Given the description of an element on the screen output the (x, y) to click on. 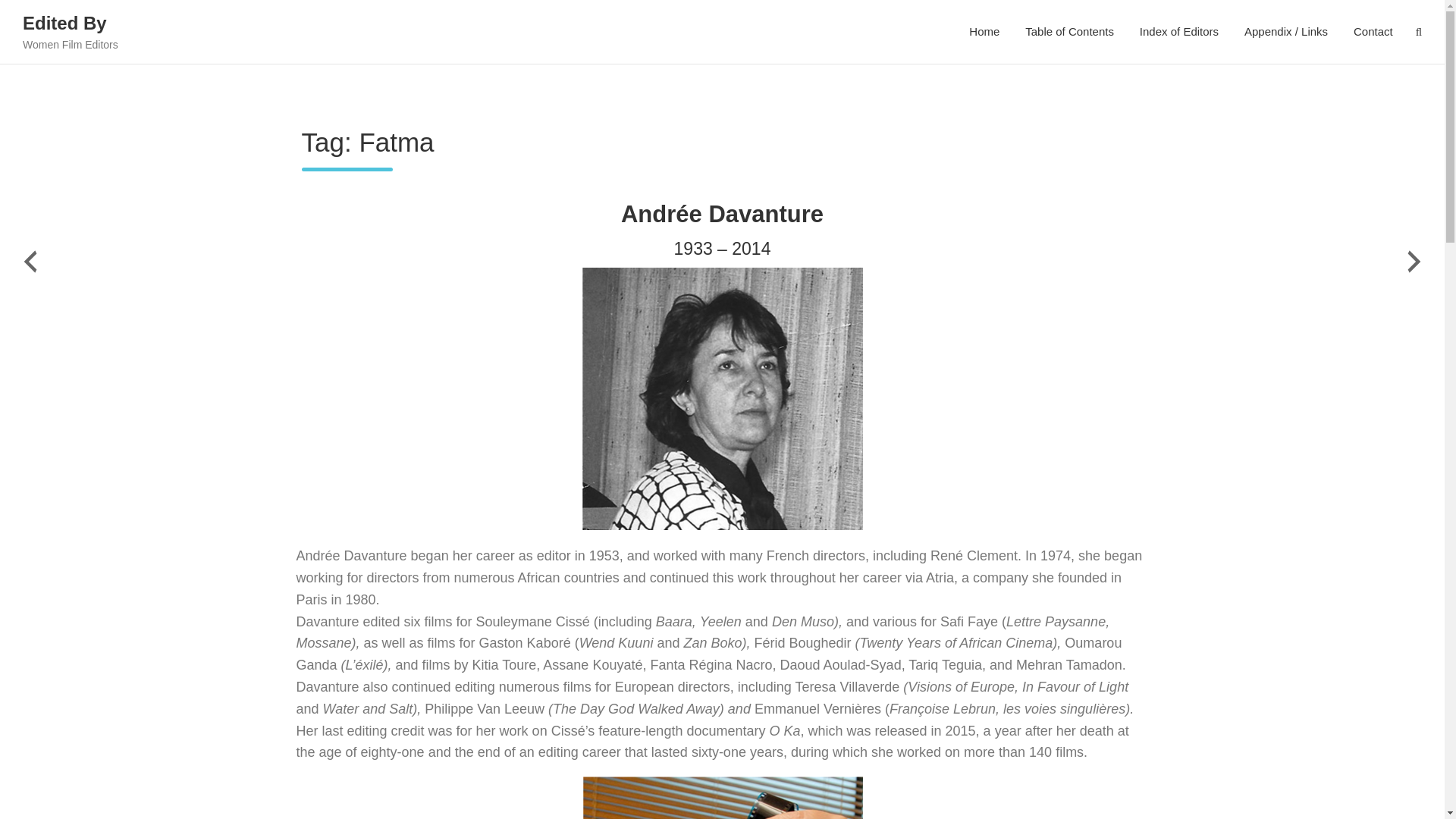
Edited By (64, 23)
Index of Editors (1179, 31)
Contact (1373, 31)
Table of Contents (1069, 31)
